Given the description of an element on the screen output the (x, y) to click on. 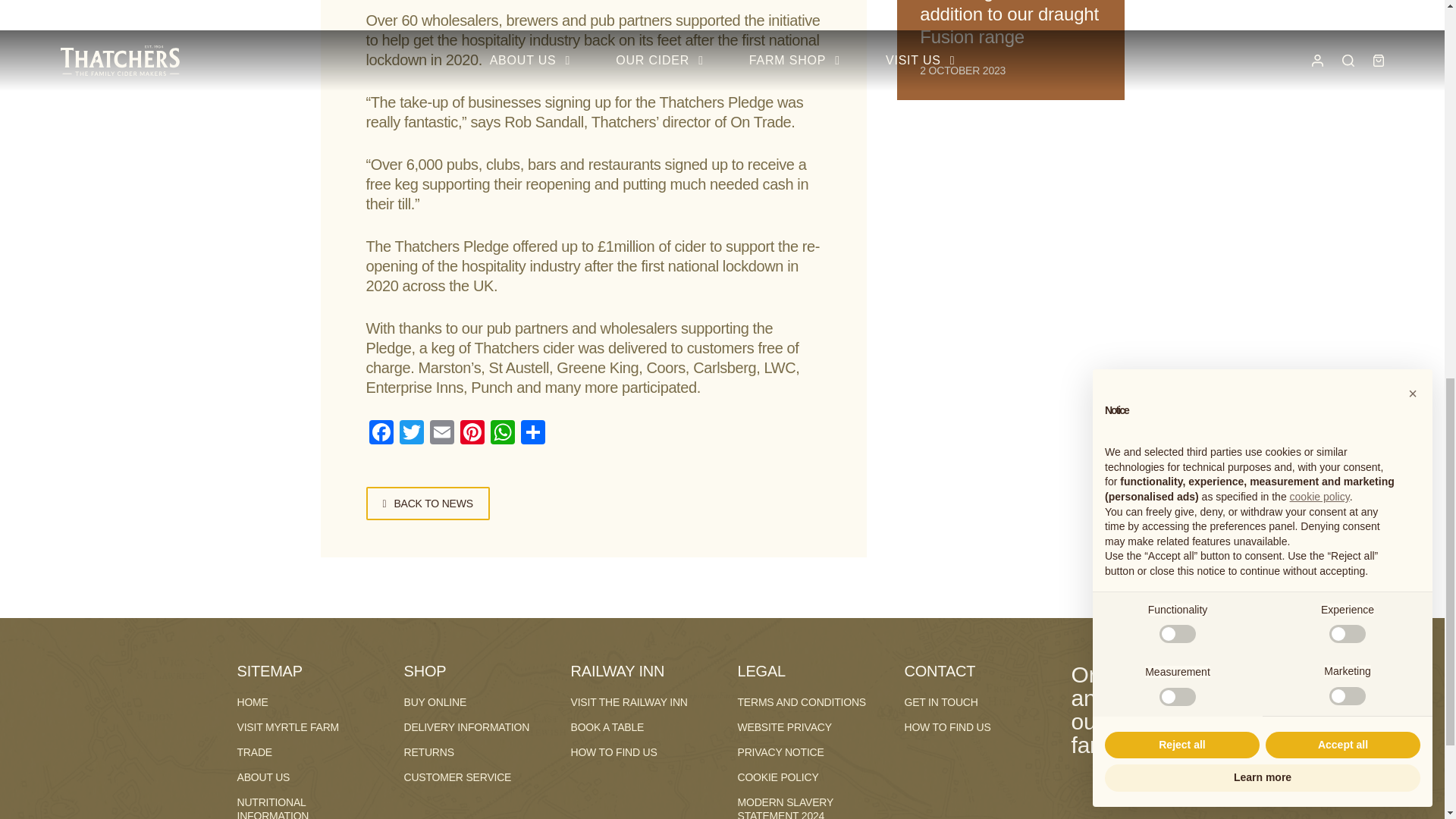
Pinterest (471, 433)
Twitter (411, 433)
WhatsApp (501, 433)
Email (441, 433)
Facebook (380, 433)
